Given the description of an element on the screen output the (x, y) to click on. 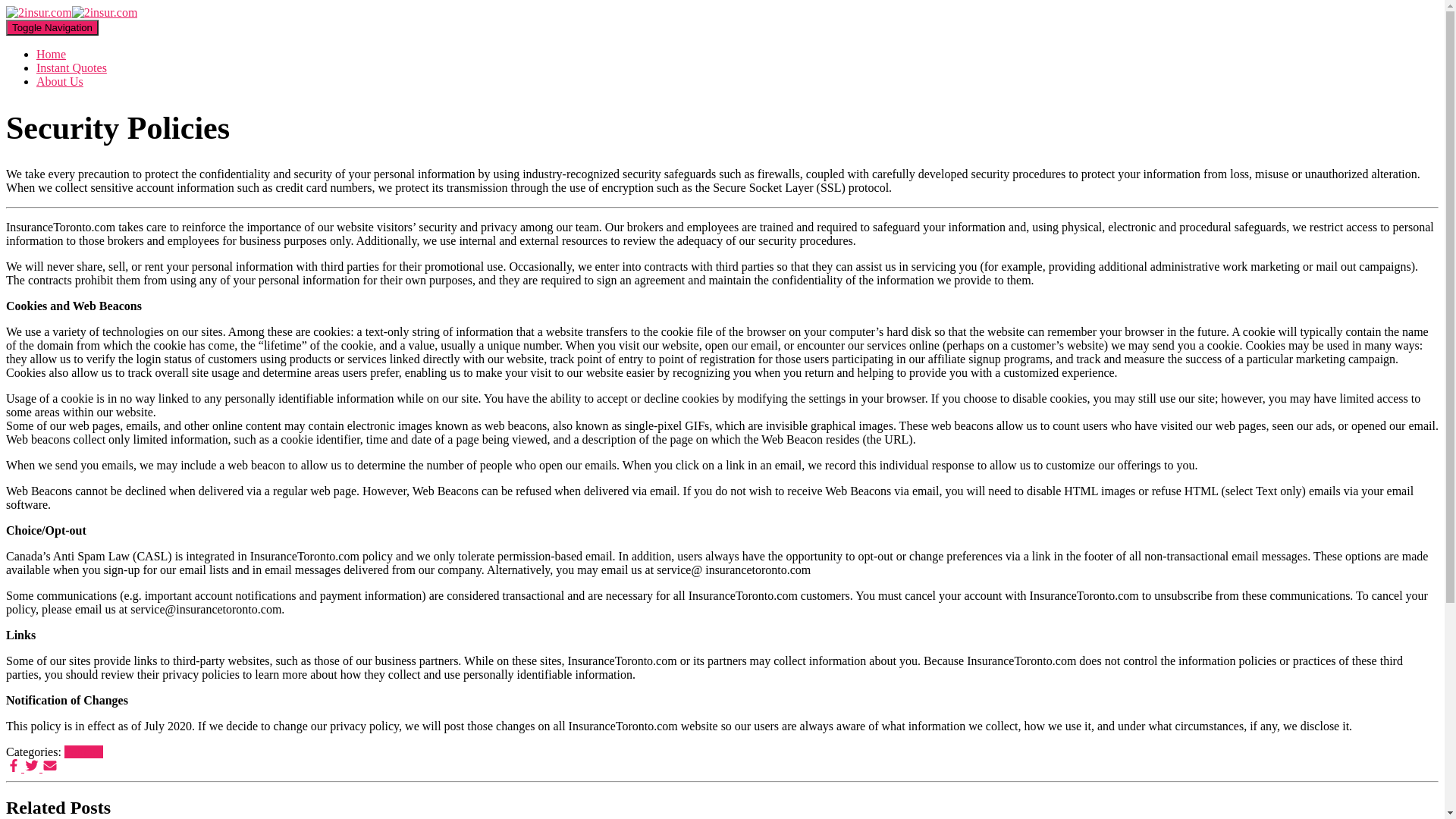
Instant Quotes Element type: text (71, 67)
About Us Element type: text (59, 81)
2insur.com Element type: hover (71, 12)
Toggle Navigation Element type: text (52, 27)
Home Element type: text (50, 53)
Policies Element type: text (83, 751)
